Given the description of an element on the screen output the (x, y) to click on. 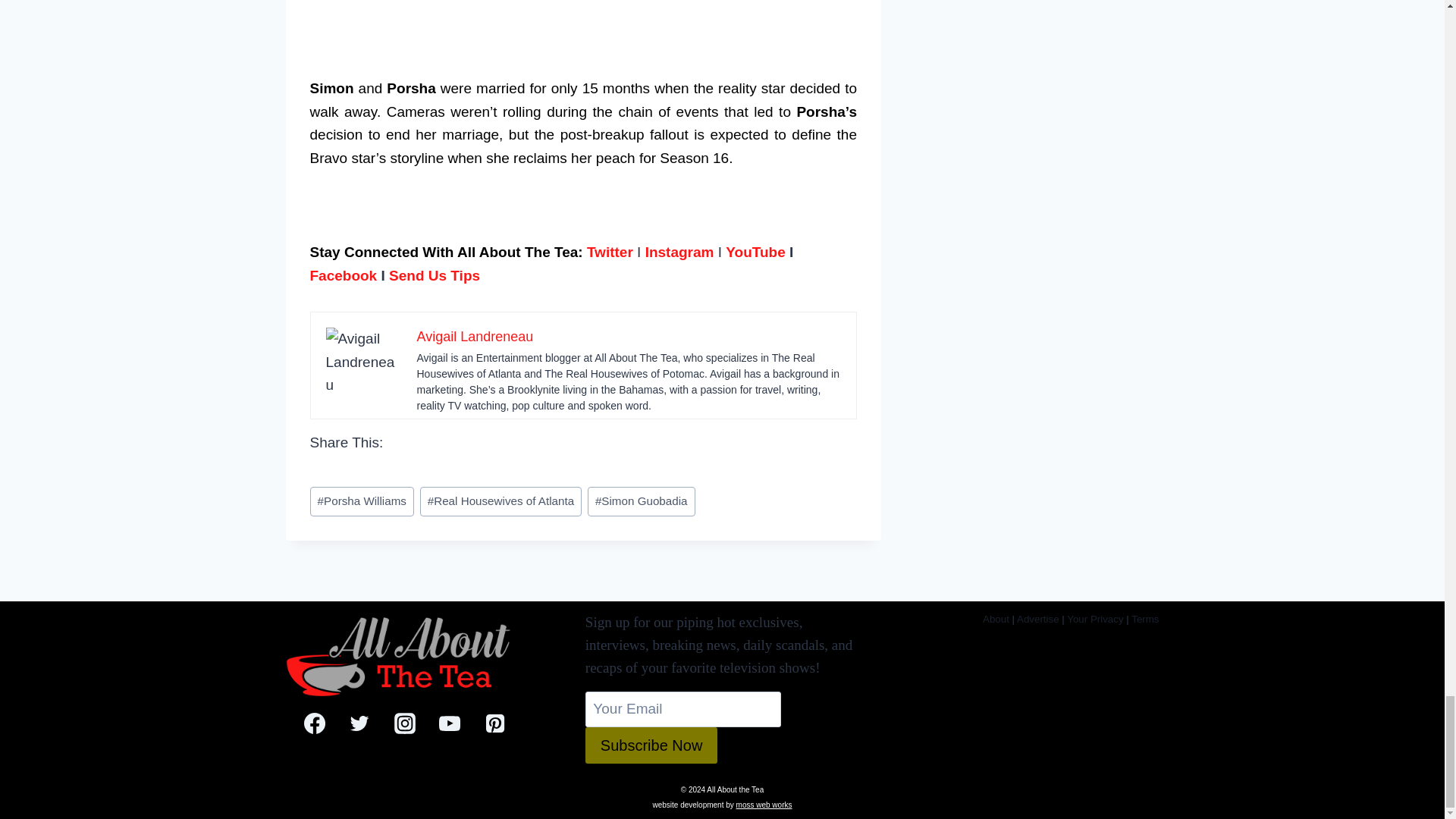
Instagram (679, 252)
YouTube (754, 252)
Send Us Tips (434, 274)
Twitter (609, 252)
Facebook (342, 274)
